Given the description of an element on the screen output the (x, y) to click on. 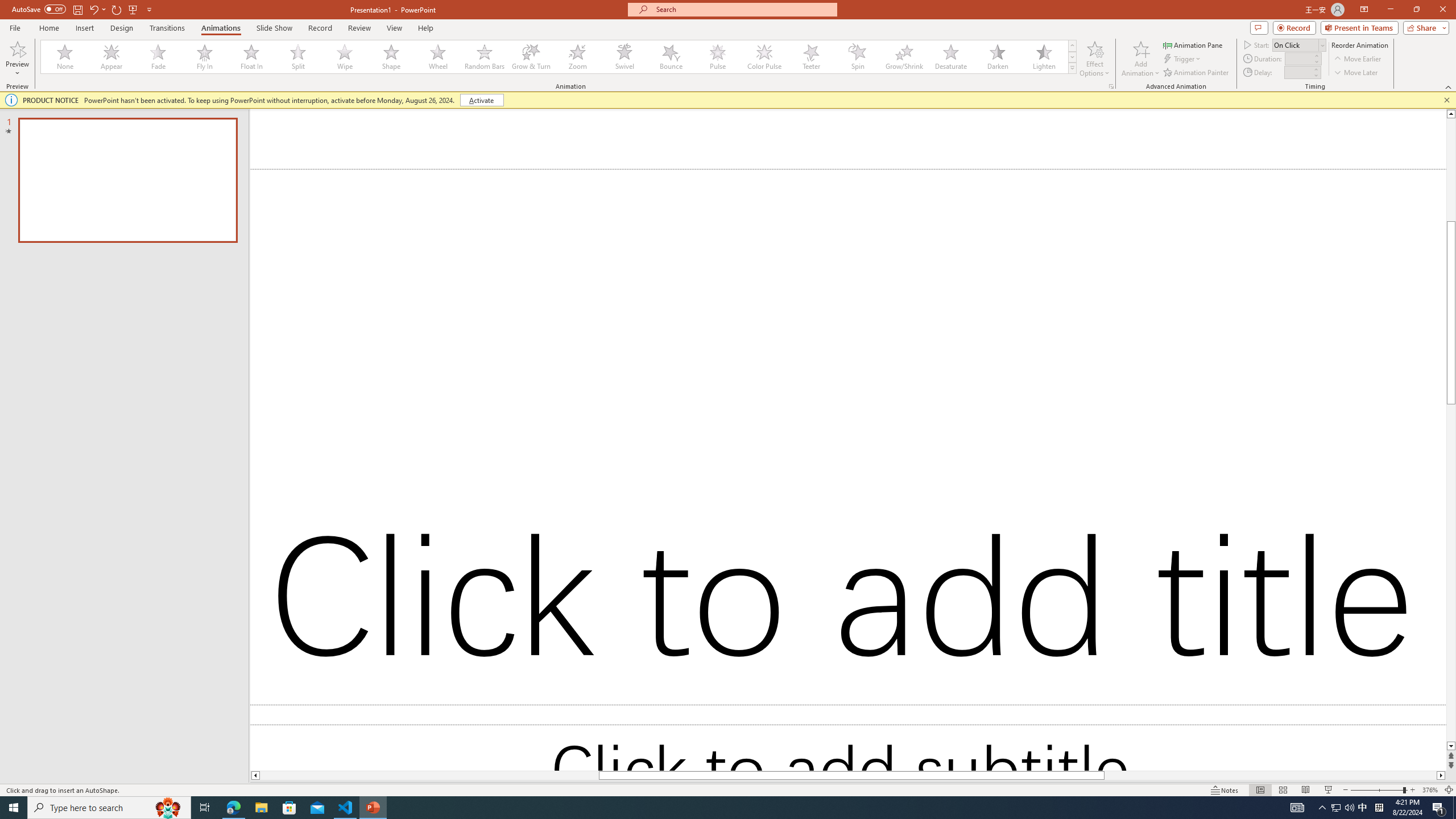
Teeter (810, 56)
Appear (111, 56)
Wheel (437, 56)
Grow/Shrink (903, 56)
Grow & Turn (531, 56)
Darken (997, 56)
Move Earlier (1357, 58)
